Given the description of an element on the screen output the (x, y) to click on. 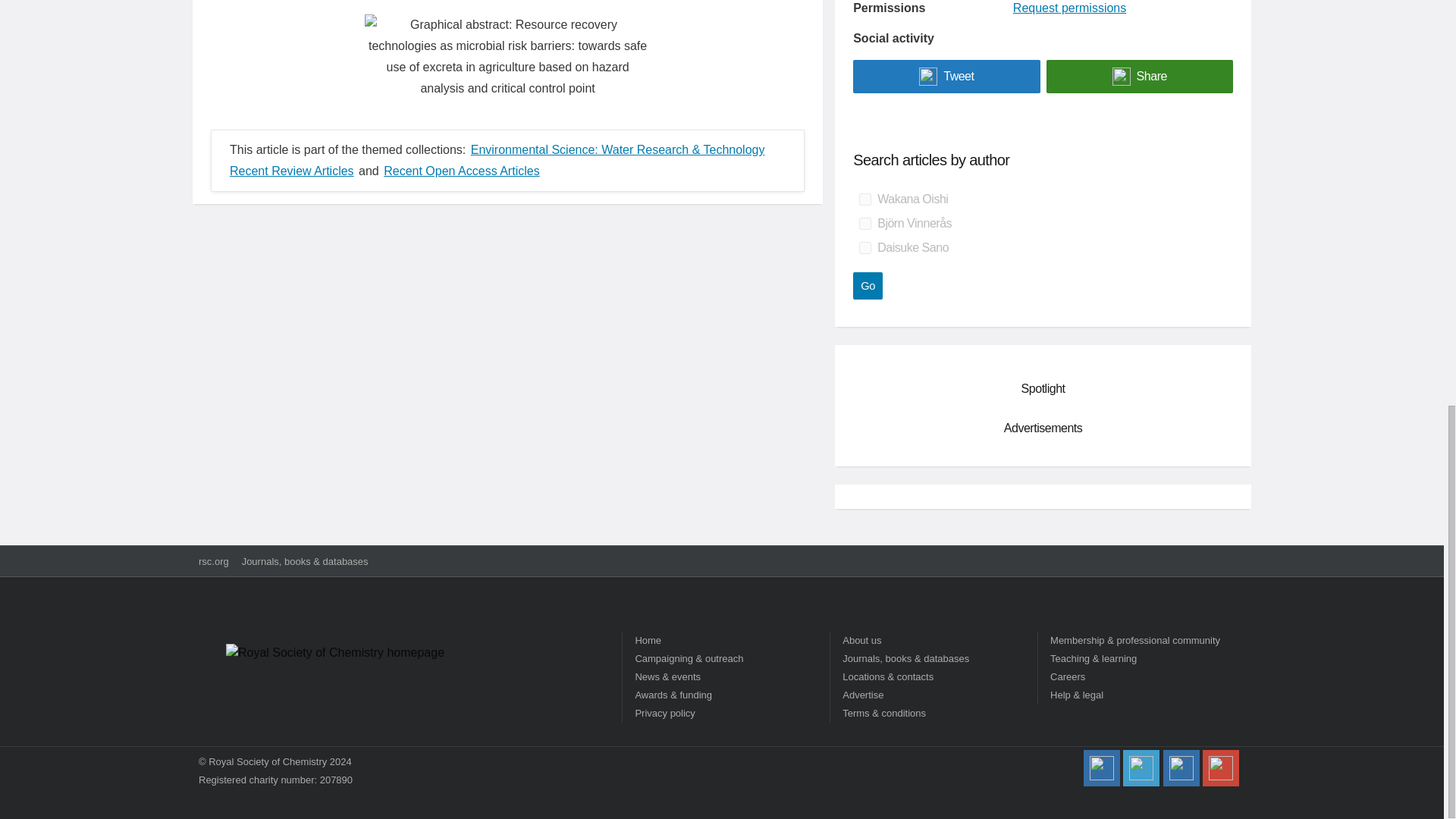
on (864, 247)
Recent Open Access Articles (460, 170)
Go (867, 285)
Go (867, 285)
on (864, 199)
on (864, 223)
Request permissions (1068, 7)
